Given the description of an element on the screen output the (x, y) to click on. 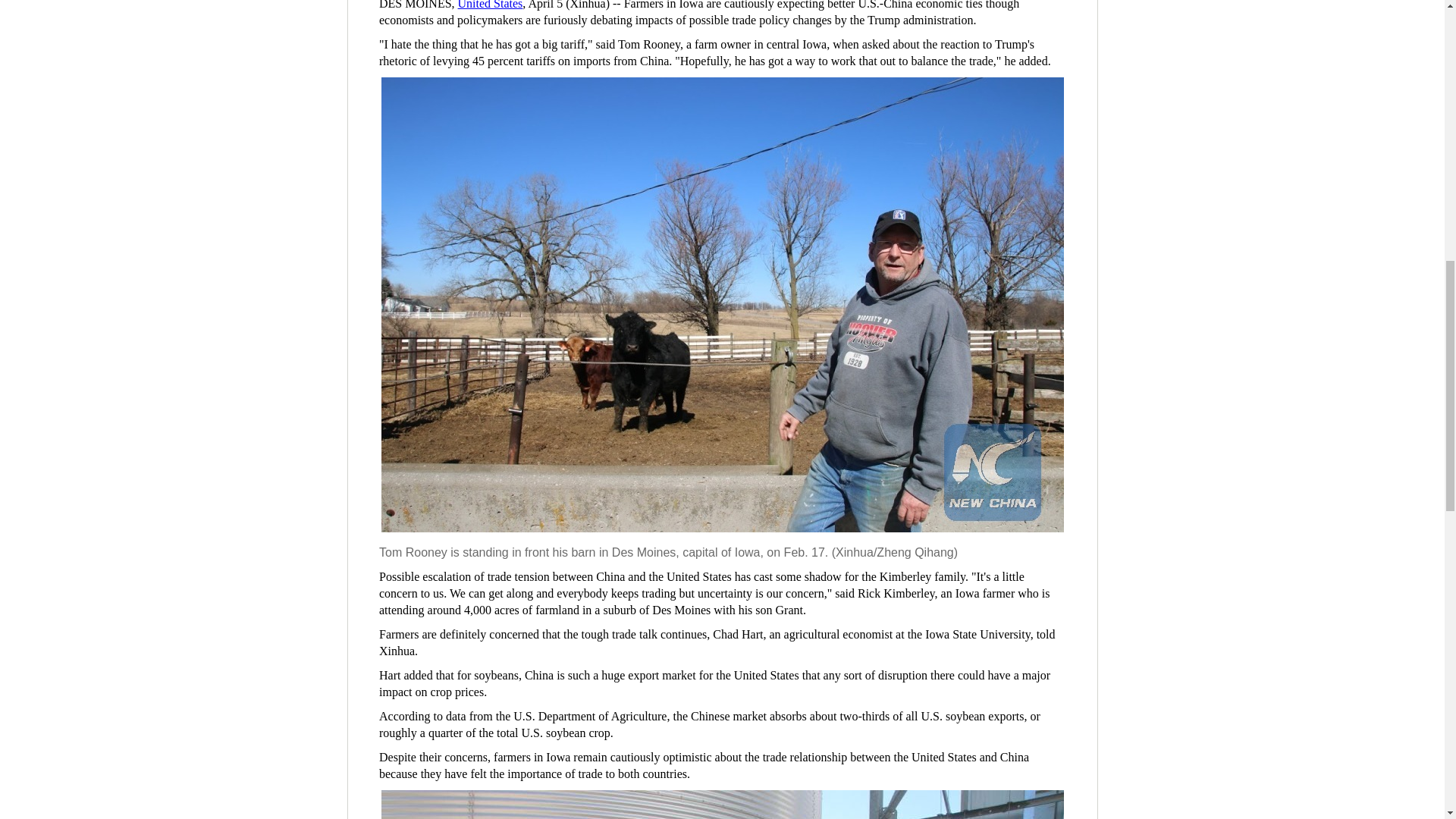
United States (490, 4)
